Given the description of an element on the screen output the (x, y) to click on. 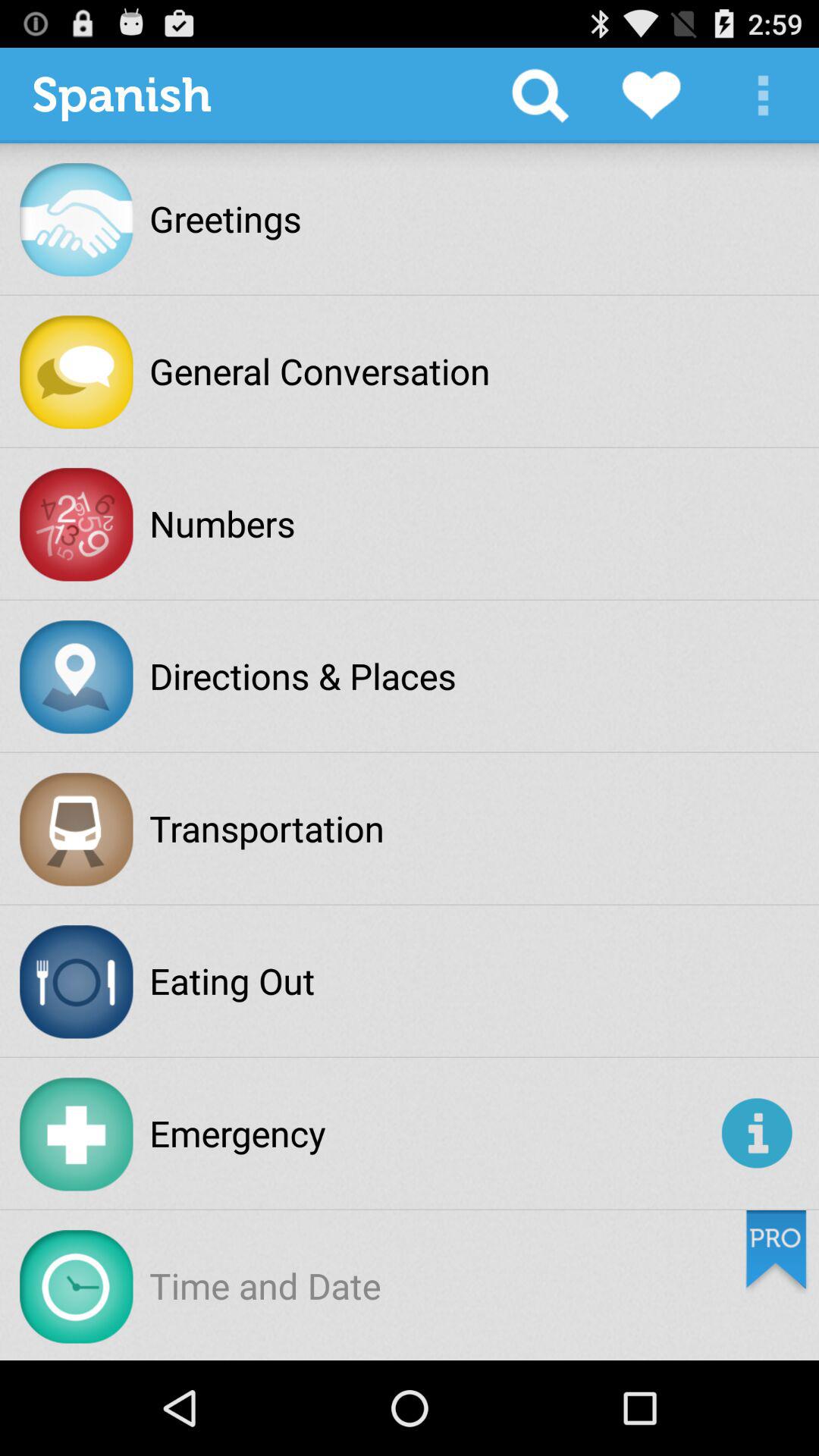
flip to the transportation item (266, 828)
